Given the description of an element on the screen output the (x, y) to click on. 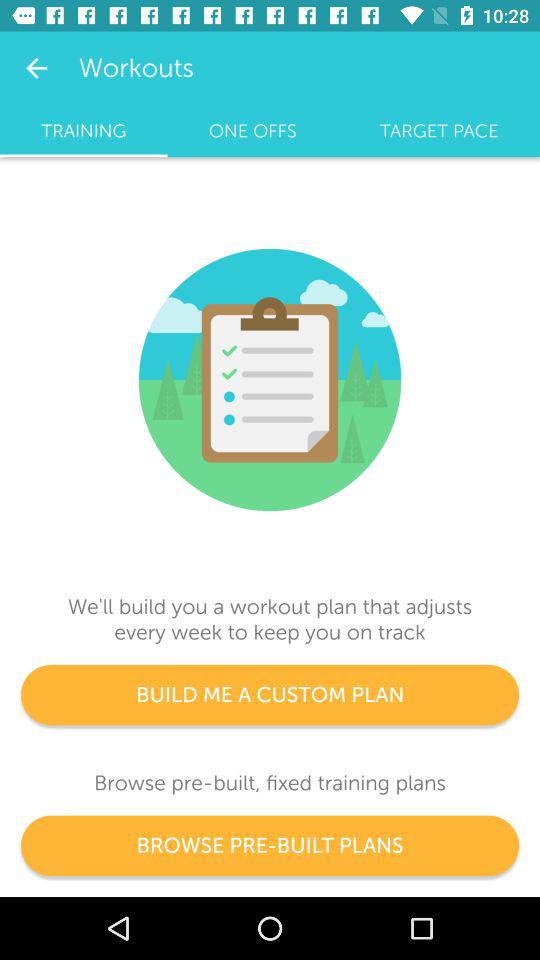
launch icon next to training icon (252, 131)
